Given the description of an element on the screen output the (x, y) to click on. 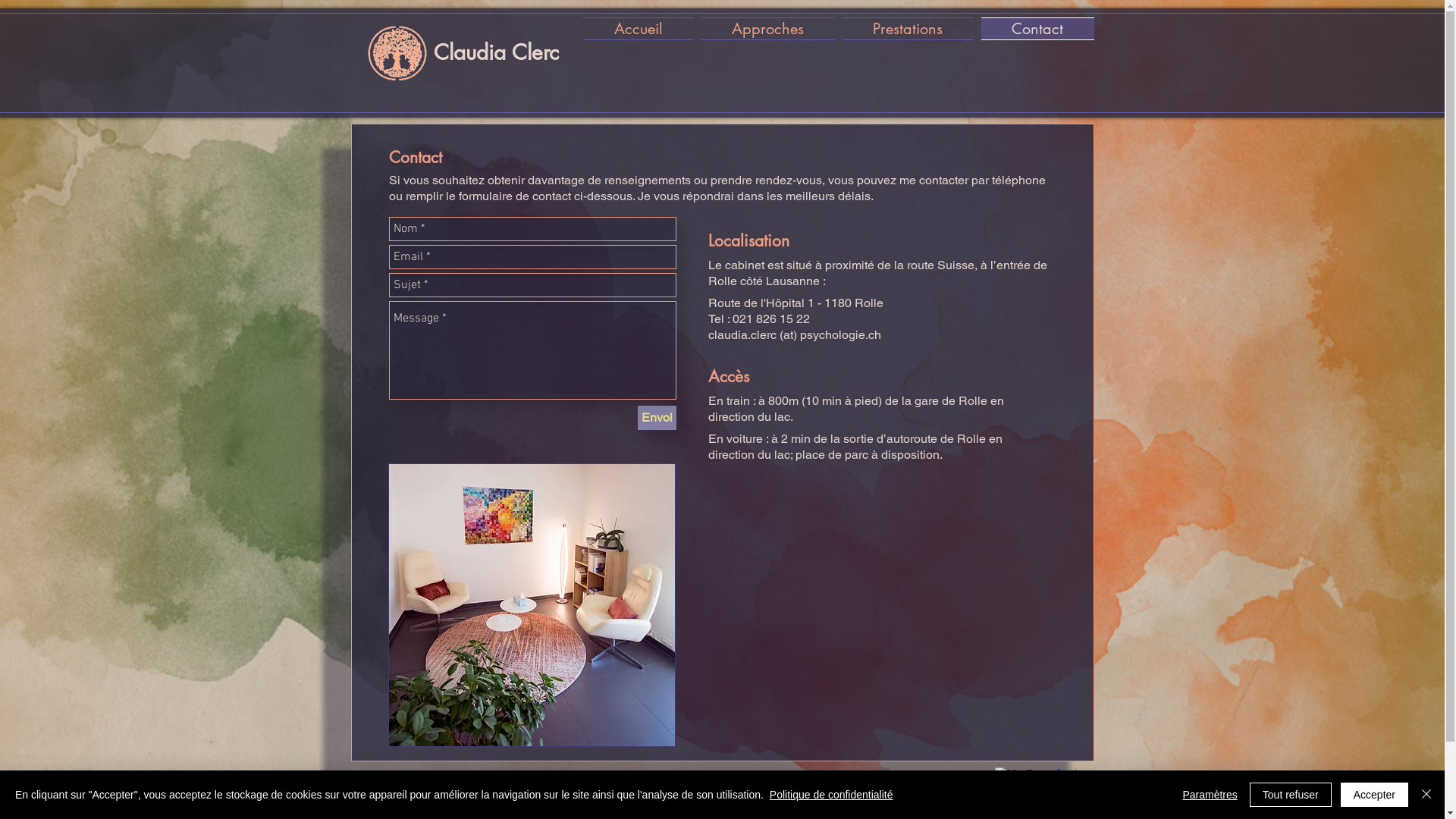
Prestations Element type: text (907, 27)
Google Maps Element type: hover (882, 638)
Accueil Element type: text (639, 27)
Approches Element type: text (767, 27)
Accepter Element type: text (1374, 794)
Claudia Clerc Element type: text (495, 51)
Contact Element type: text (1034, 27)
Tout refuser Element type: text (1290, 794)
Envoi Element type: text (656, 417)
